Given the description of an element on the screen output the (x, y) to click on. 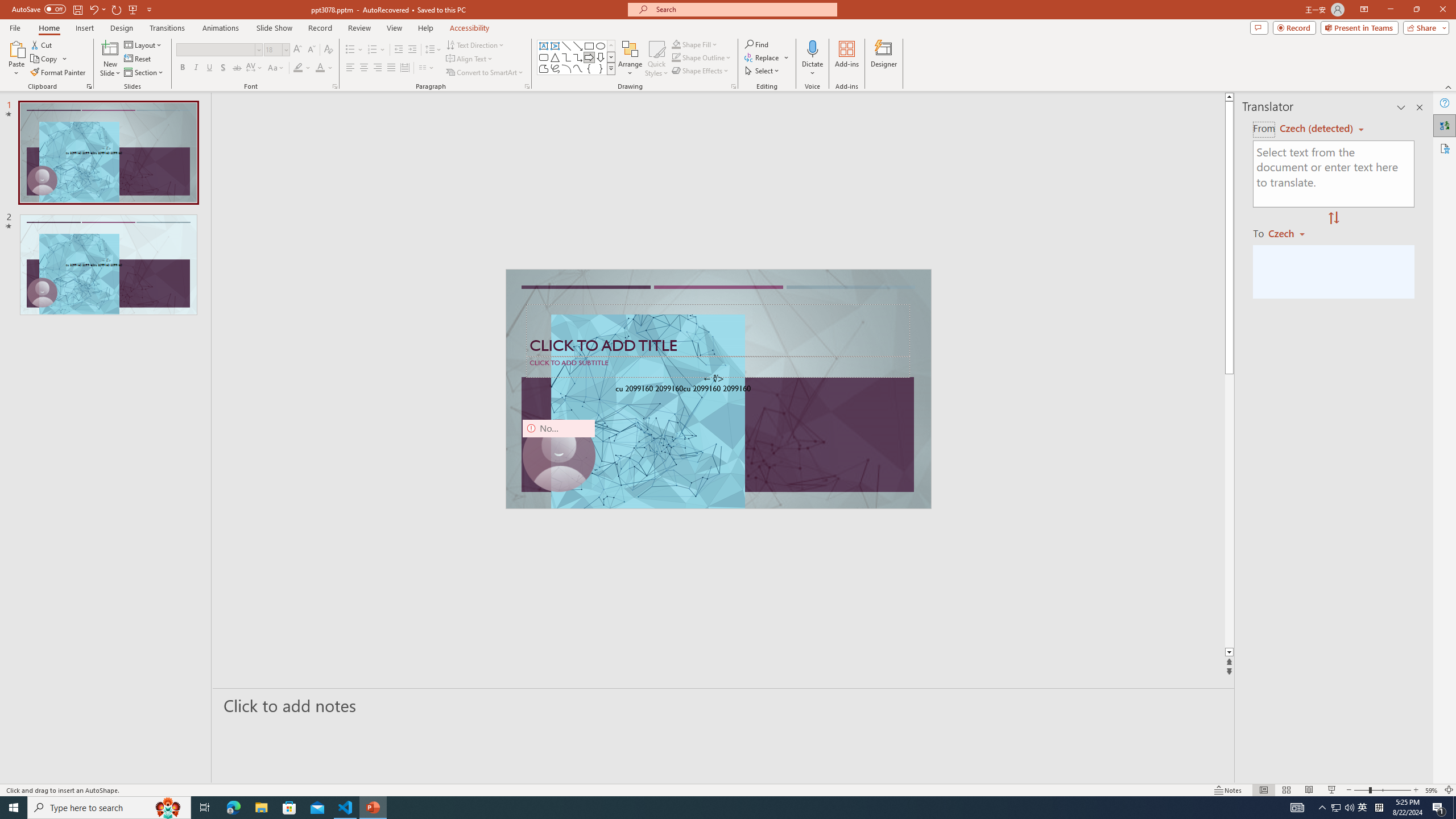
Subtitle TextBox (717, 366)
